Given the description of an element on the screen output the (x, y) to click on. 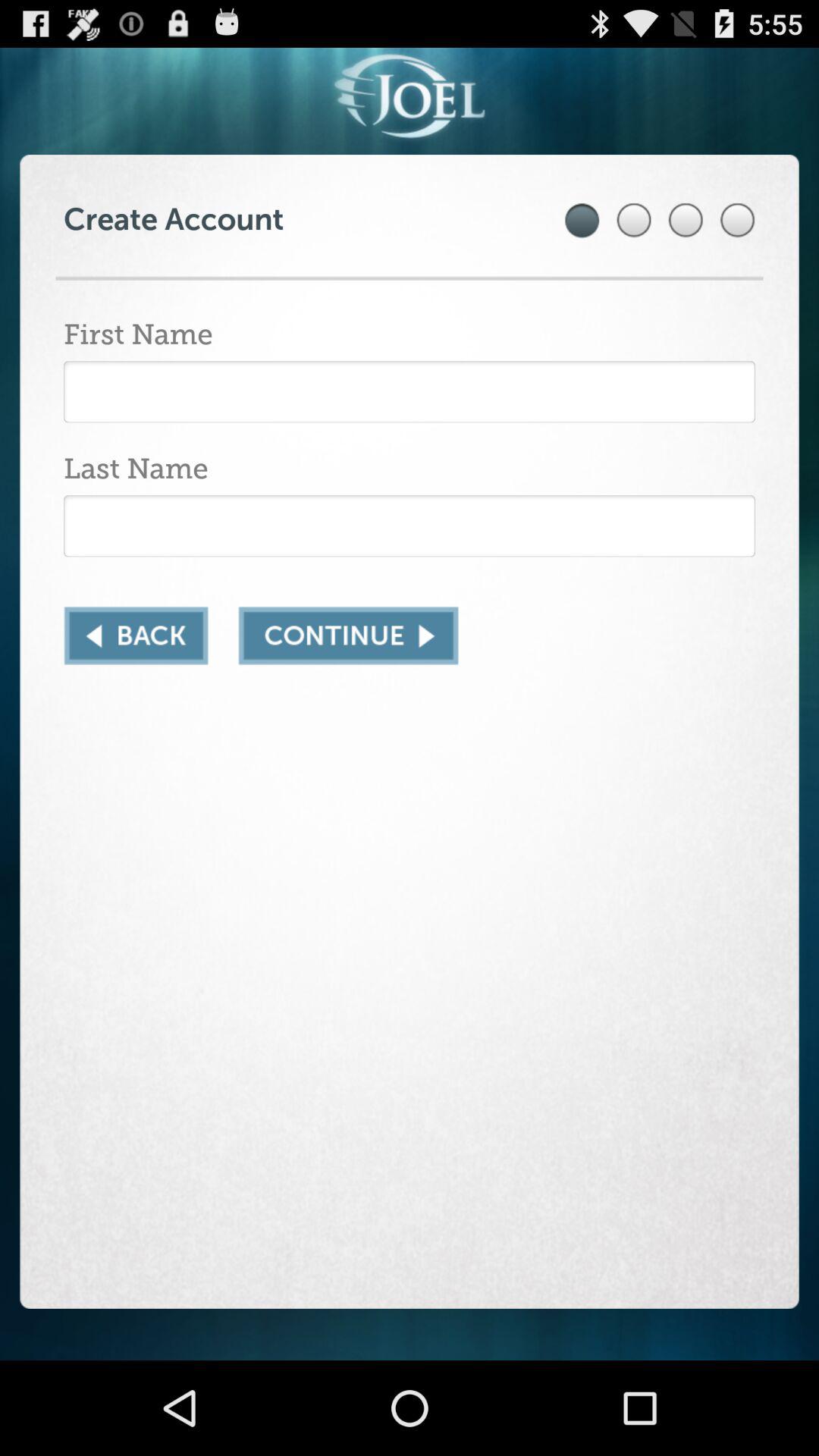
input first name (409, 391)
